Given the description of an element on the screen output the (x, y) to click on. 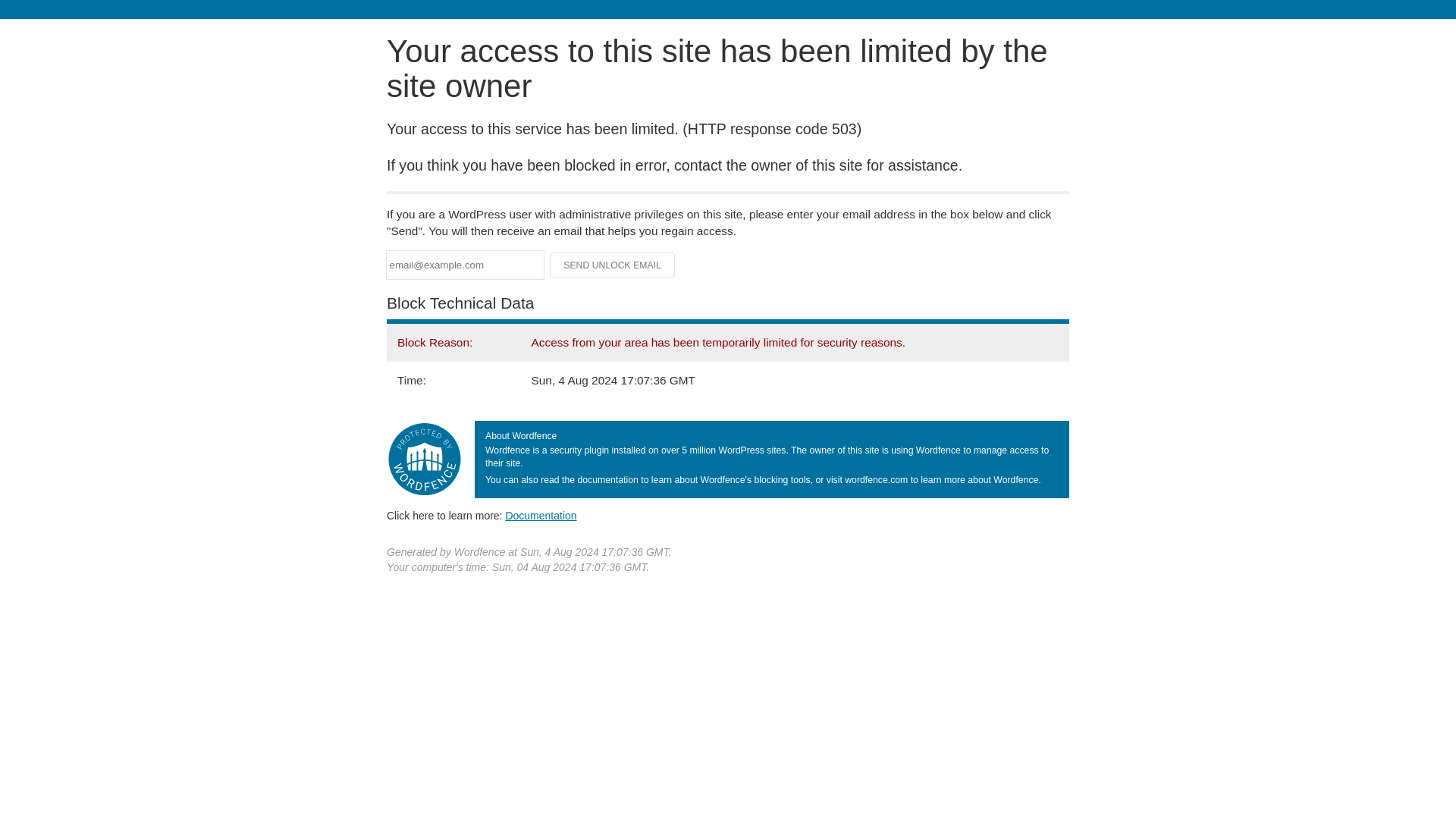
Send Unlock Email (612, 265)
Documentation (540, 515)
Send Unlock Email (612, 265)
